Given the description of an element on the screen output the (x, y) to click on. 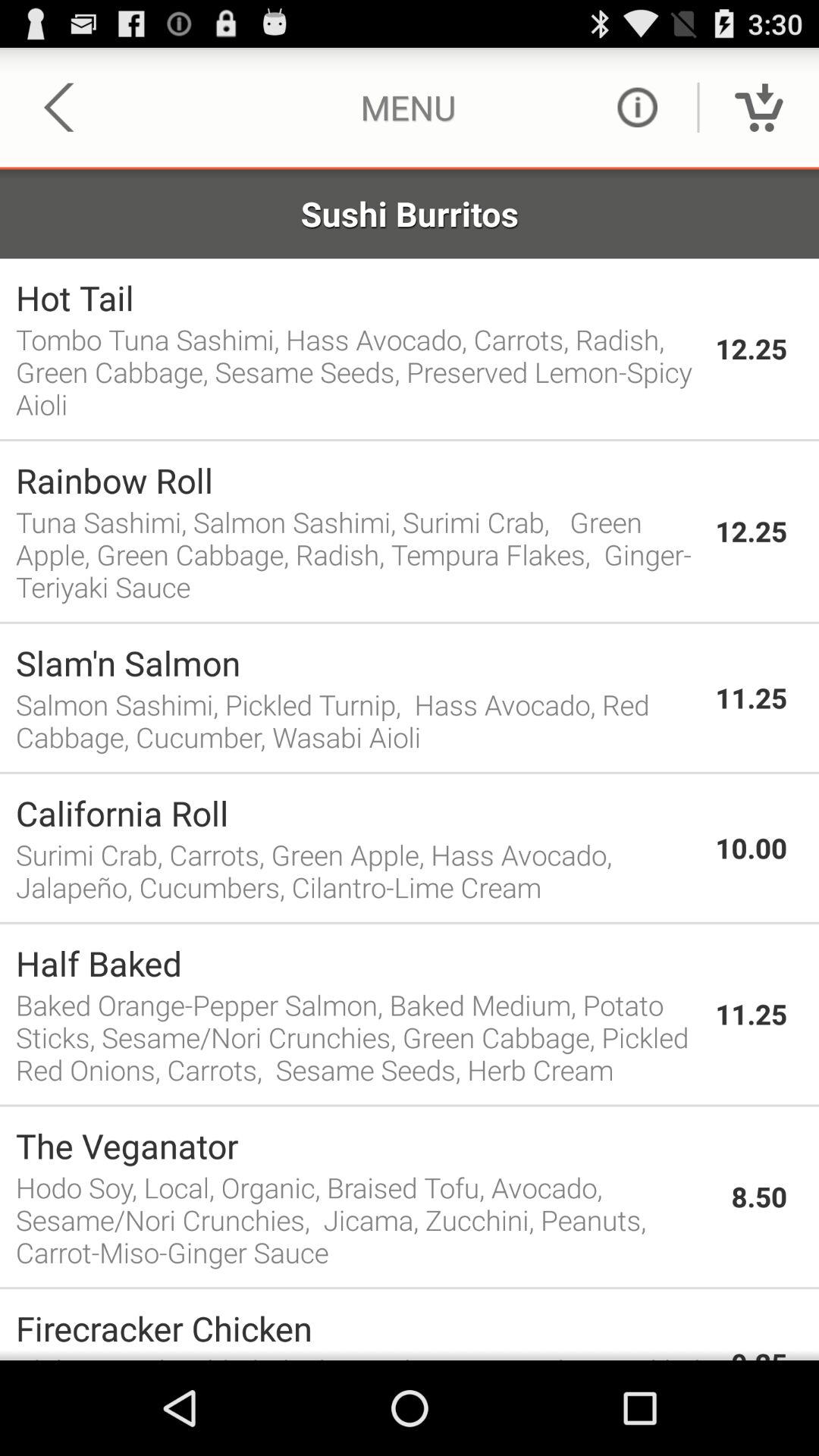
choose the icon below salmon sashimi pickled app (409, 772)
